Given the description of an element on the screen output the (x, y) to click on. 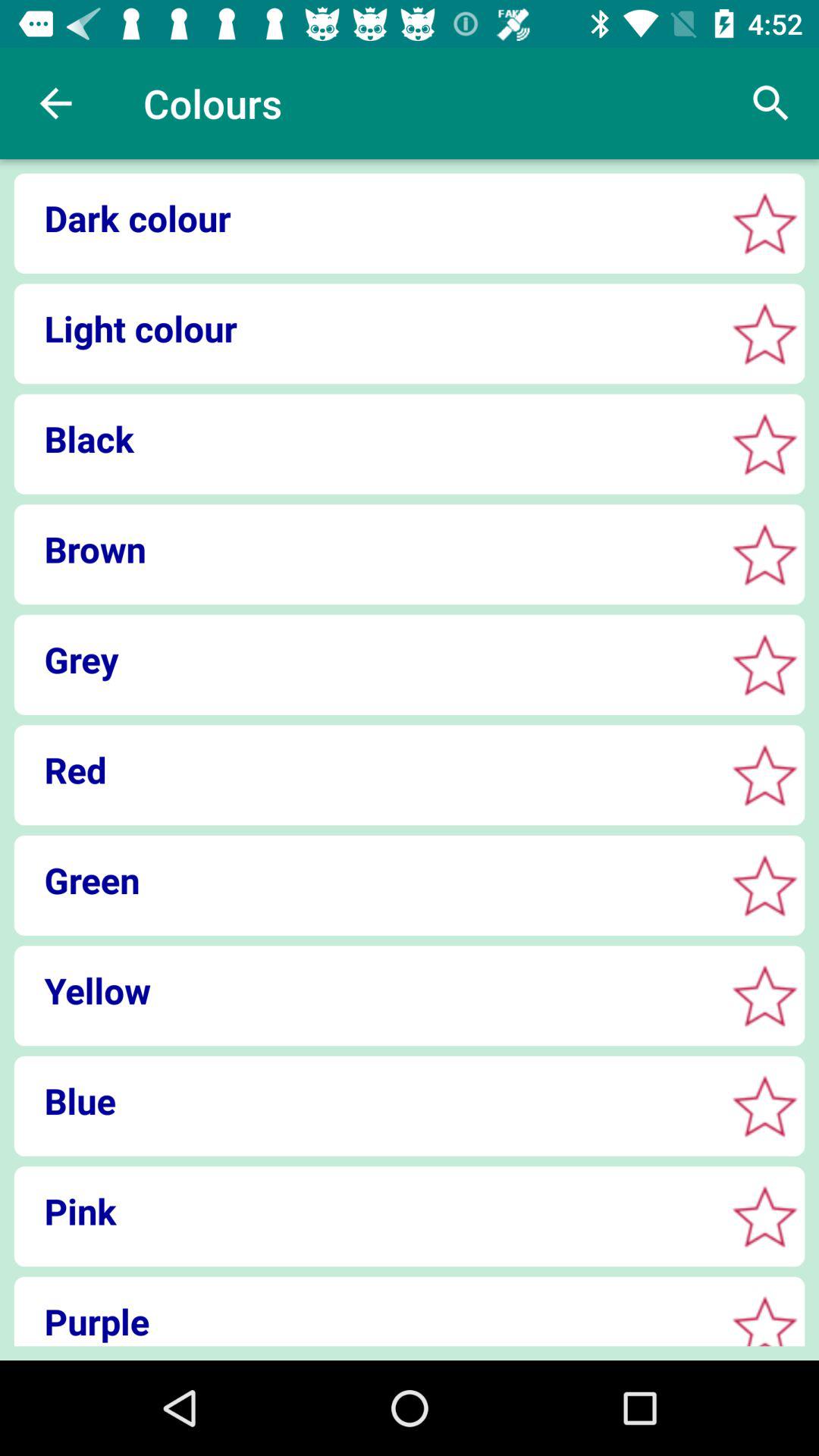
launch brown icon (364, 548)
